Given the description of an element on the screen output the (x, y) to click on. 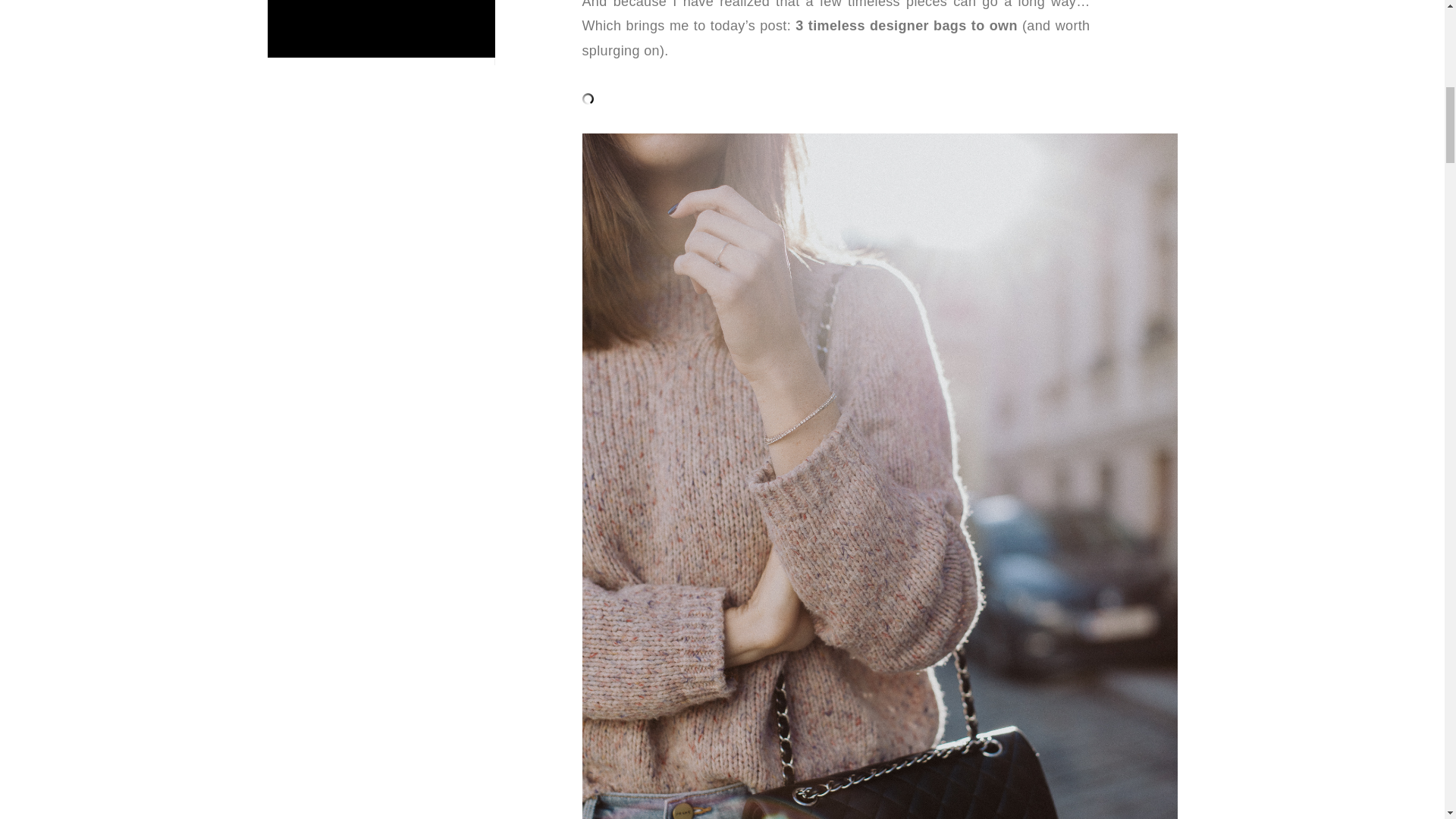
Share on Email (302, 32)
Share on Pinterest (1334, 30)
Share on Facebook (353, 32)
